Given the description of an element on the screen output the (x, y) to click on. 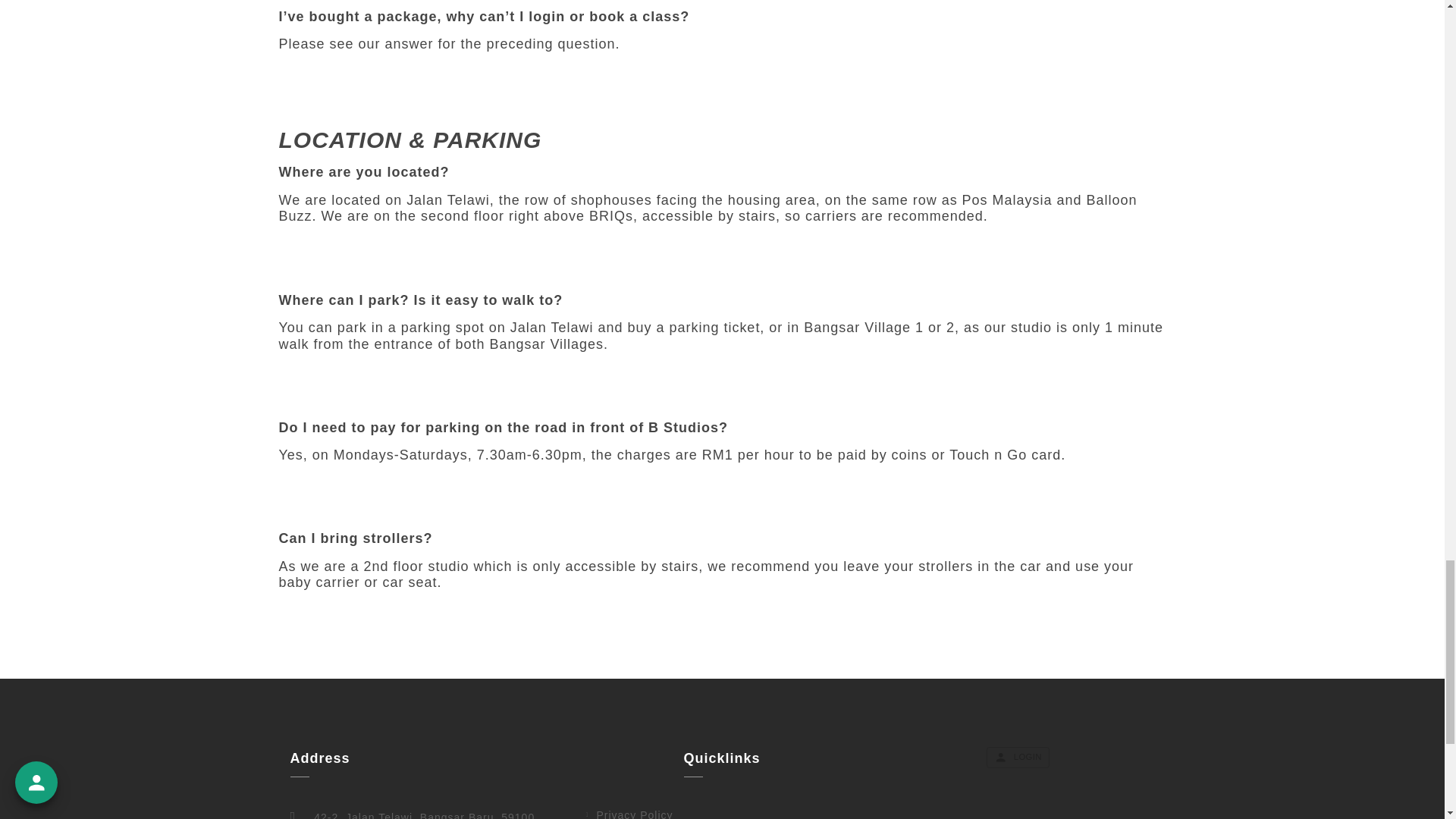
Privacy Policy (721, 812)
LOGIN (1017, 757)
